Given the description of an element on the screen output the (x, y) to click on. 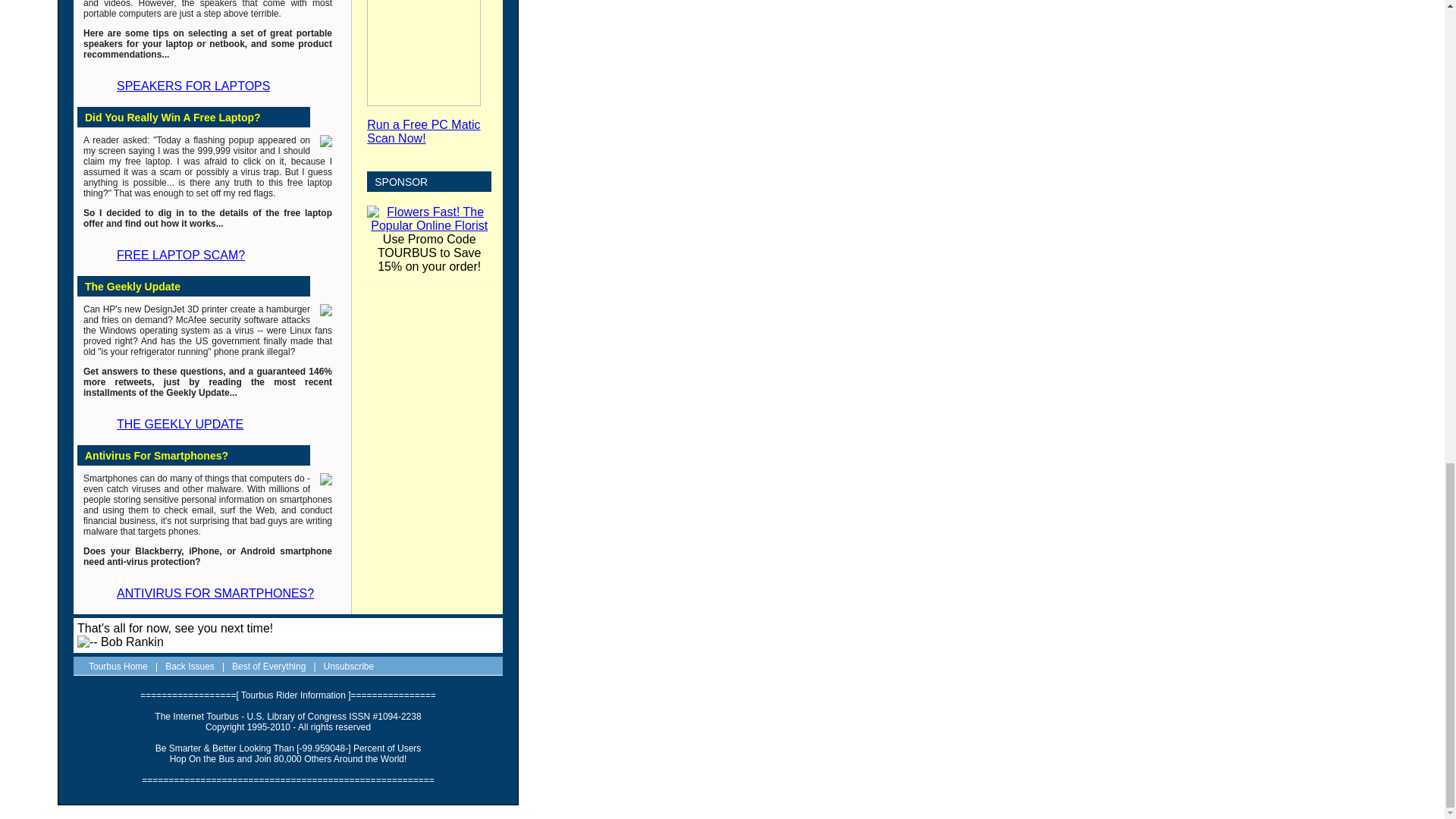
Back Issues (189, 665)
-- Bob Rankin (120, 642)
Unsubscribe (348, 665)
Run a Free PC Matic Scan Now! (423, 130)
Best of Everything (268, 665)
THE GEEKLY UPDATE (171, 423)
ANTIVIRUS FOR SMARTPHONES? (206, 593)
FREE LAPTOP SCAM? (171, 254)
SPEAKERS FOR LAPTOPS (184, 85)
Tourbus Home (118, 665)
